Given the description of an element on the screen output the (x, y) to click on. 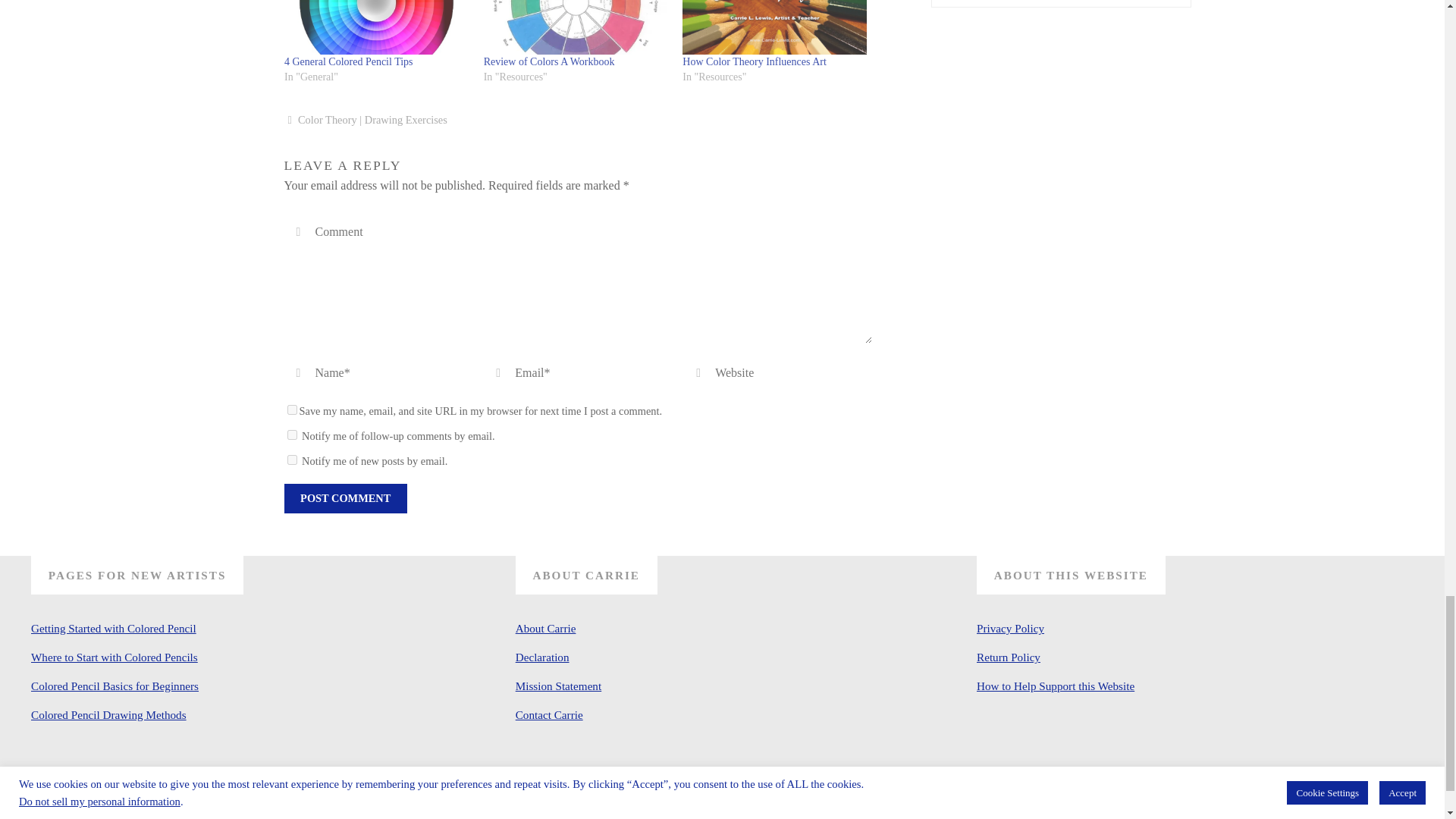
yes (291, 409)
subscribe (291, 434)
Post Comment (344, 498)
subscribe (291, 460)
